Given the description of an element on the screen output the (x, y) to click on. 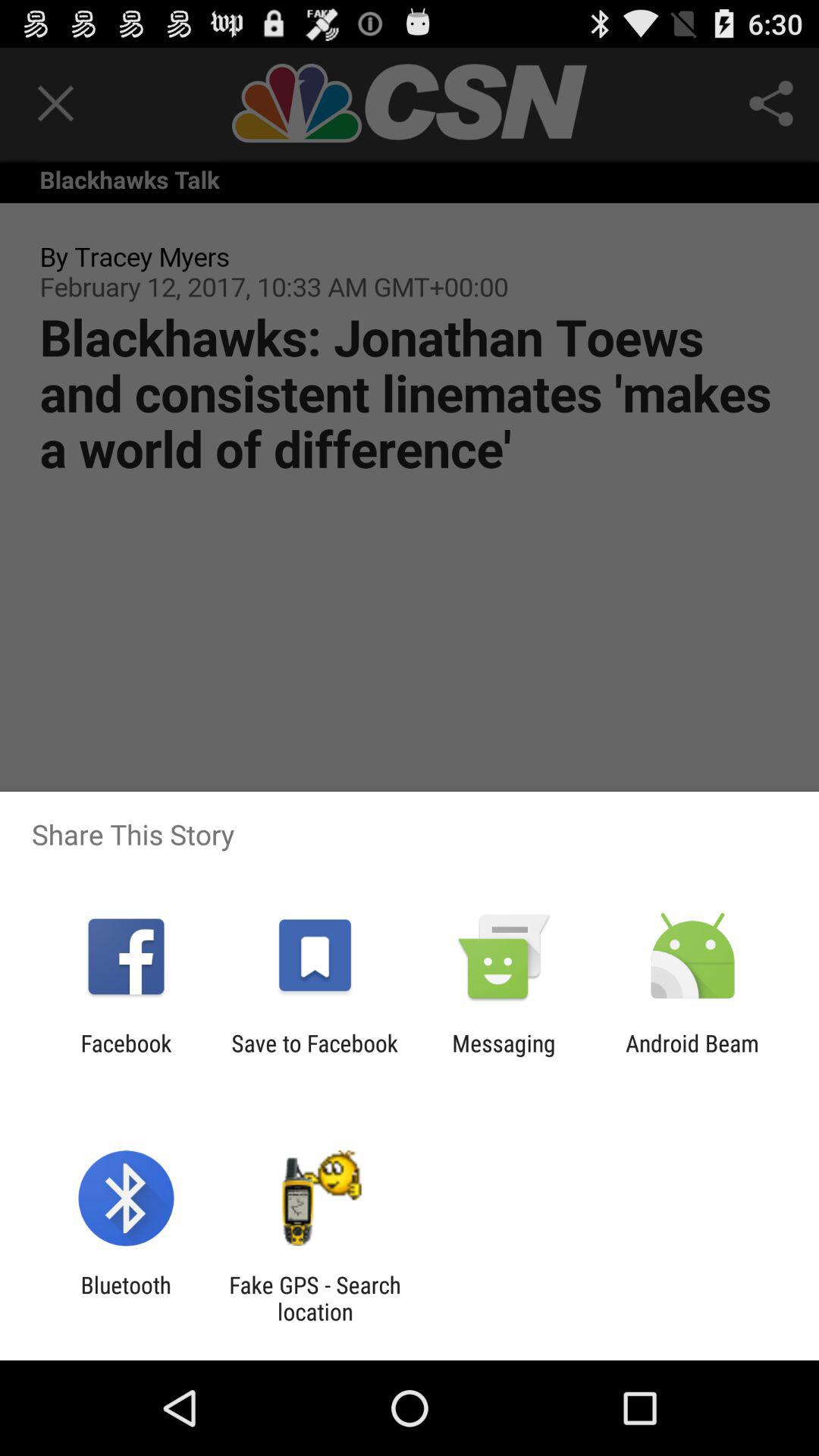
launch icon next to fake gps search icon (125, 1298)
